Given the description of an element on the screen output the (x, y) to click on. 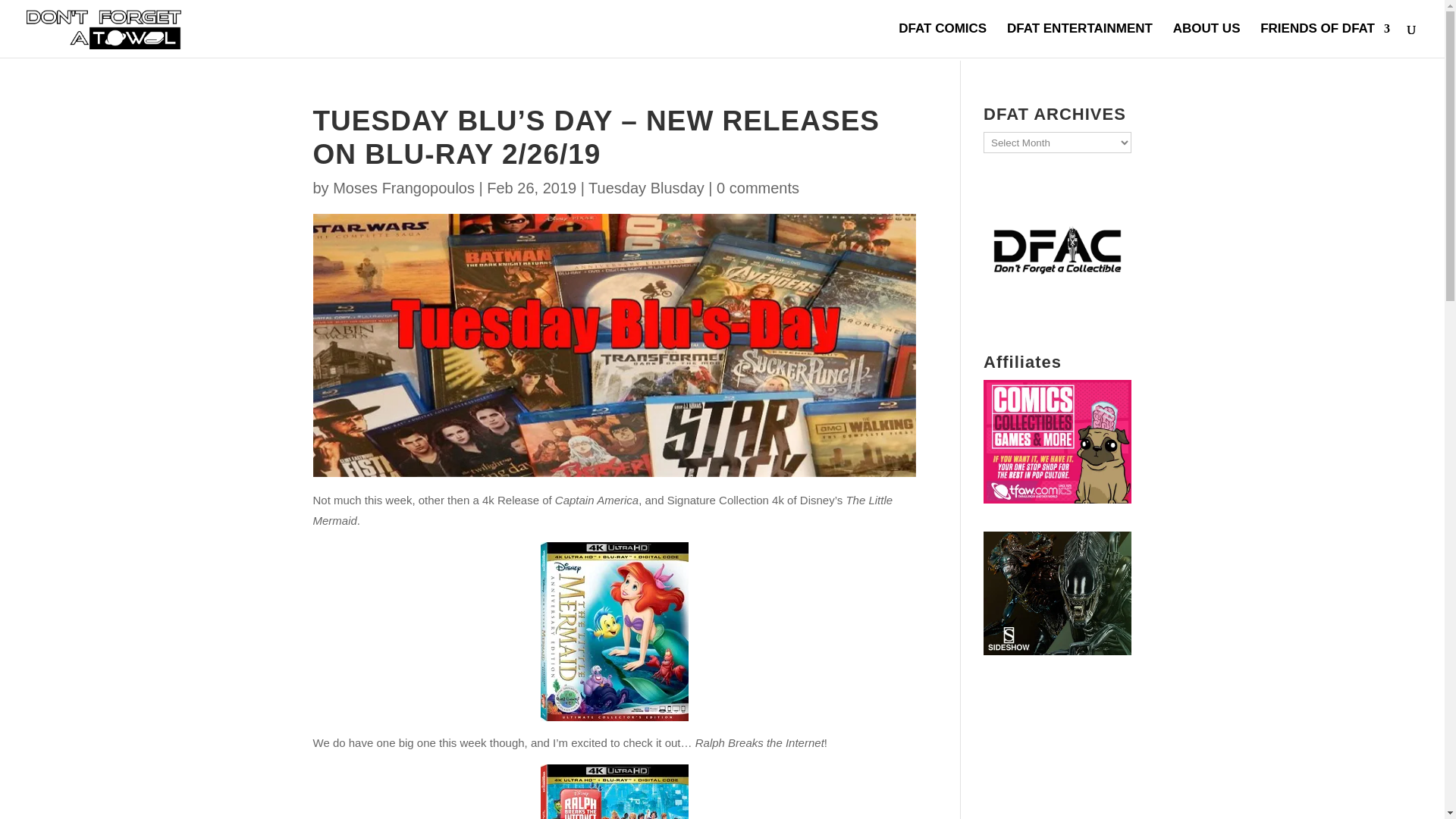
Tuesday Blusday (646, 187)
DFAT COMICS (942, 40)
ABOUT US (1206, 40)
Posts by Moses Frangopoulos (403, 187)
DFAT ENTERTAINMENT (1080, 40)
0 comments (757, 187)
Moses Frangopoulos (403, 187)
FRIENDS OF DFAT (1325, 40)
